Given the description of an element on the screen output the (x, y) to click on. 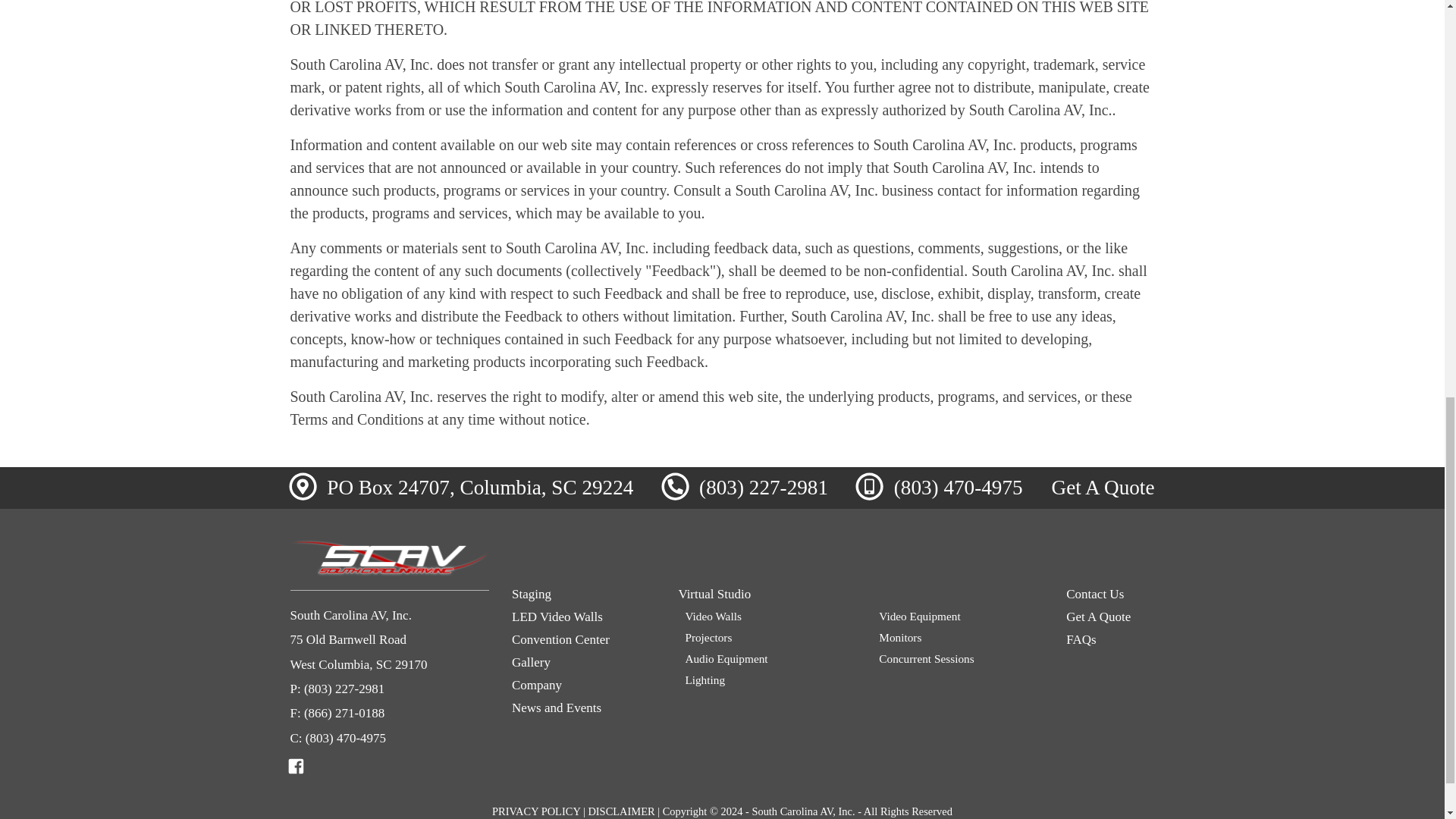
Virtual Studio (860, 594)
Get A Quote (1102, 486)
News and Events (583, 708)
Video Walls (766, 616)
Company (583, 685)
Staging (583, 594)
Convention Center (583, 639)
Gallery (583, 662)
LED Video Walls (583, 616)
Projectors (766, 637)
